Given the description of an element on the screen output the (x, y) to click on. 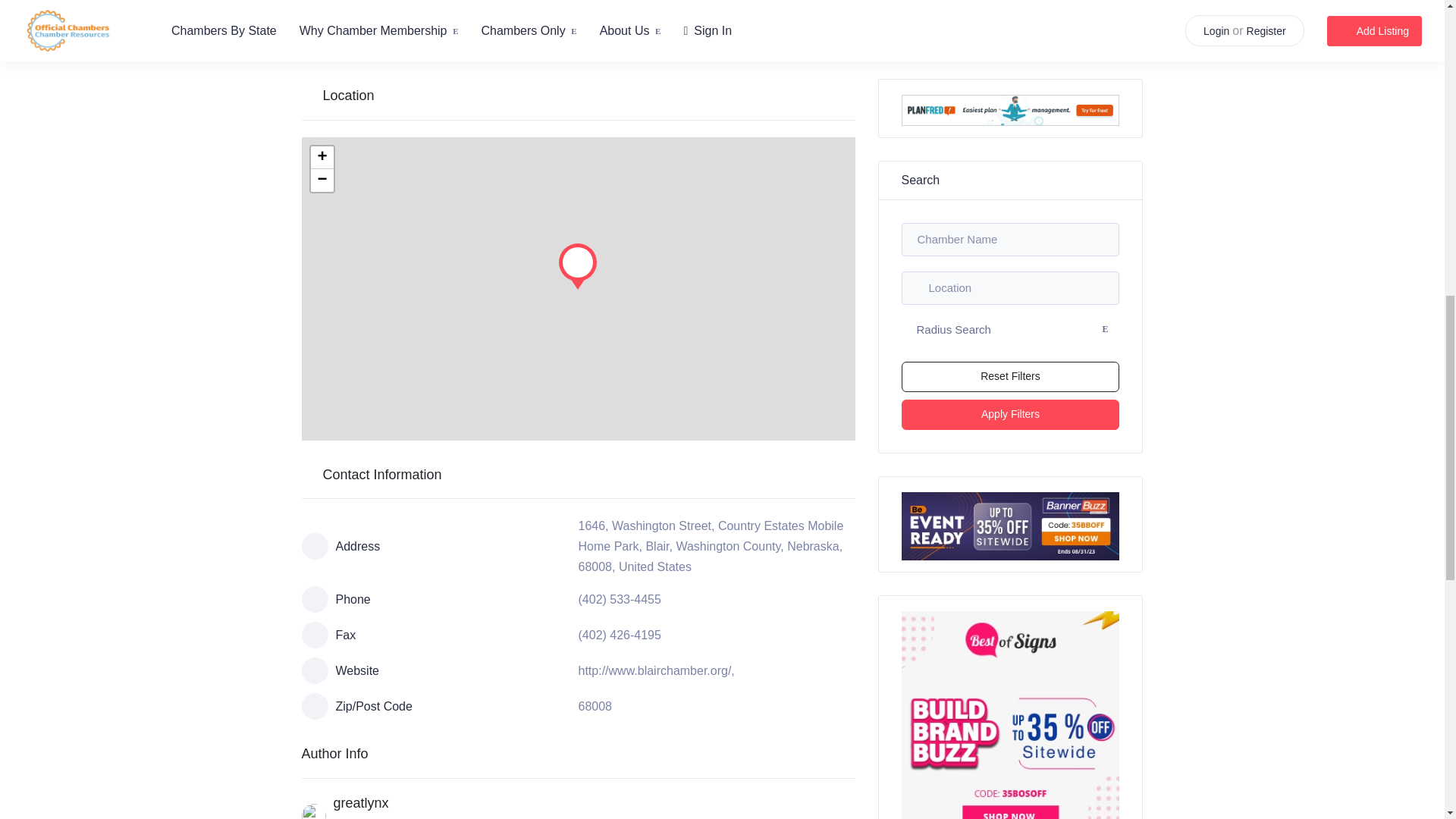
Zoom out (322, 179)
Zoom in (322, 157)
